Given the description of an element on the screen output the (x, y) to click on. 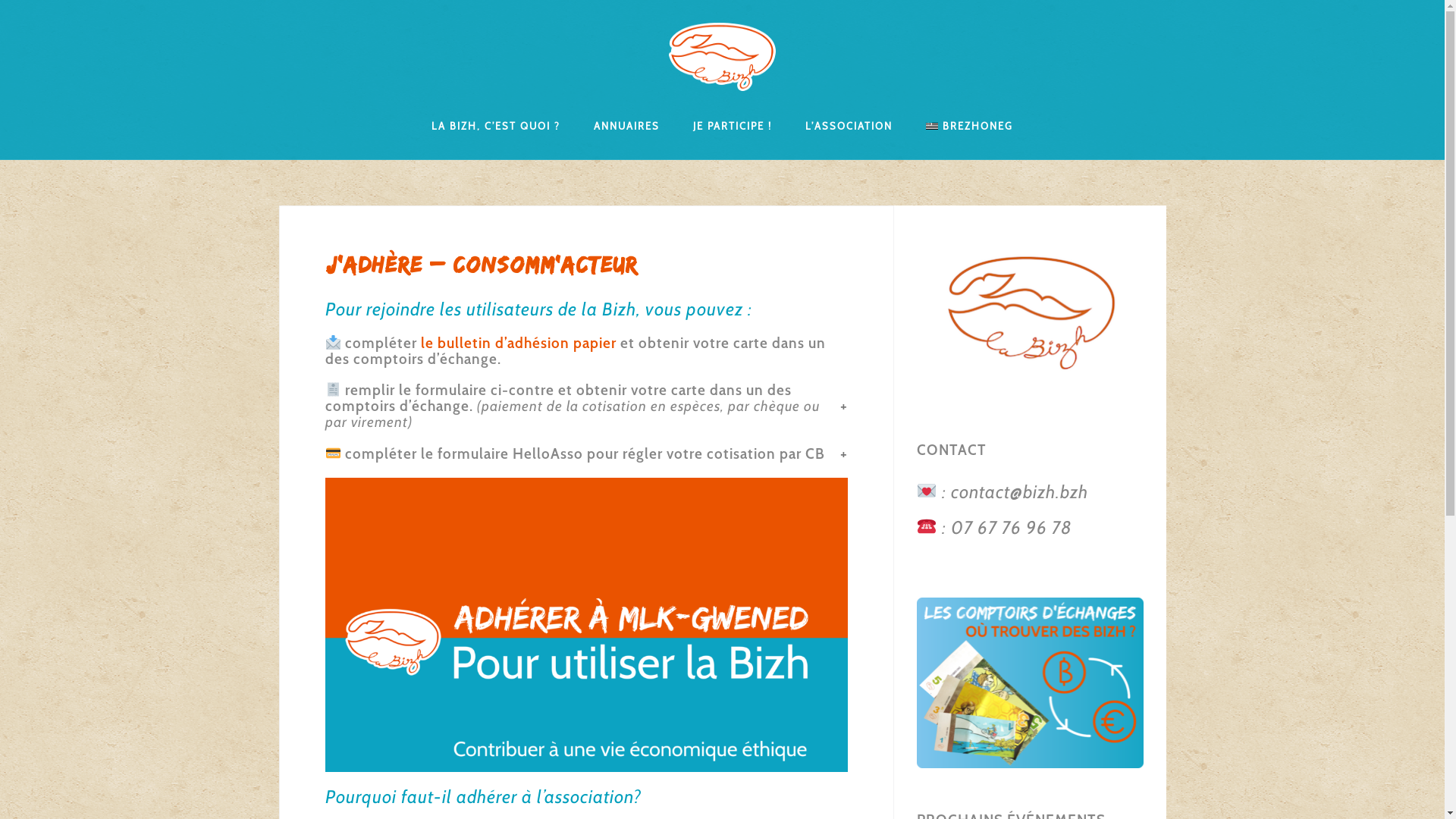
Annuaires Element type: text (626, 124)
Brezhoneg Element type: text (968, 124)
Je participe ! Element type: text (732, 124)
